Given the description of an element on the screen output the (x, y) to click on. 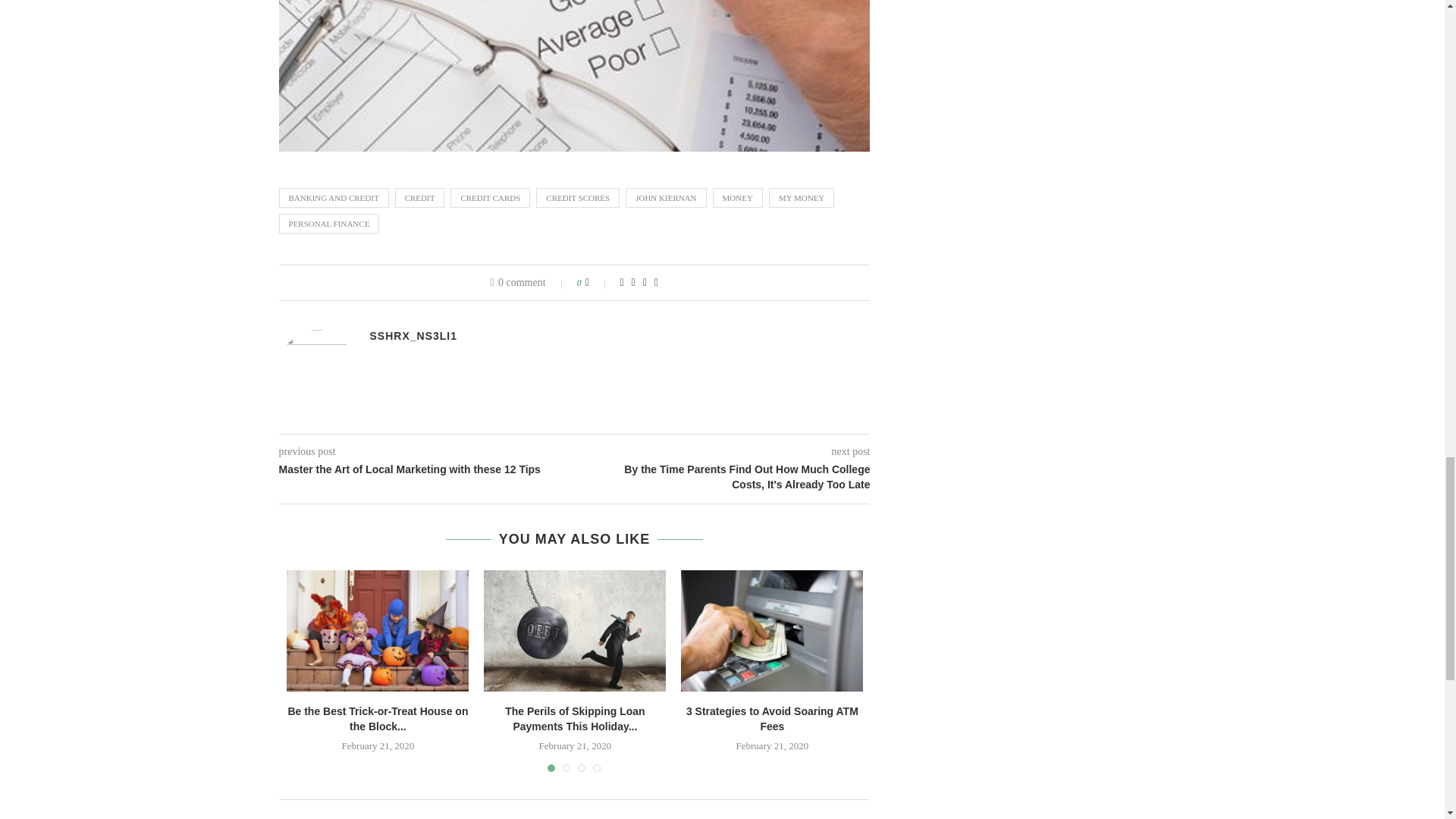
The Perils of Skipping Loan Payments This Holiday Season (574, 630)
3 Strategies to Avoid Soaring ATM Fees (772, 630)
BANKING AND CREDIT (333, 198)
PERSONAL FINANCE (329, 223)
MY MONEY (801, 198)
Master the Art of Local Marketing with these 12 Tips (427, 469)
MONEY (737, 198)
JOHN KIERNAN (666, 198)
CREDIT SCORES (577, 198)
CREDIT CARDS (489, 198)
CREDIT (419, 198)
Like (597, 282)
